Given the description of an element on the screen output the (x, y) to click on. 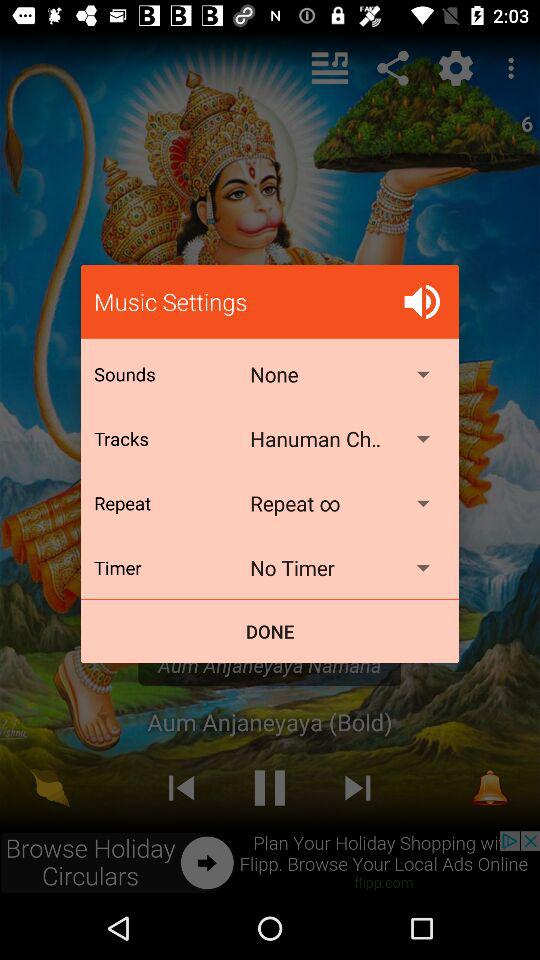
turn off icon at the top right corner (421, 301)
